Given the description of an element on the screen output the (x, y) to click on. 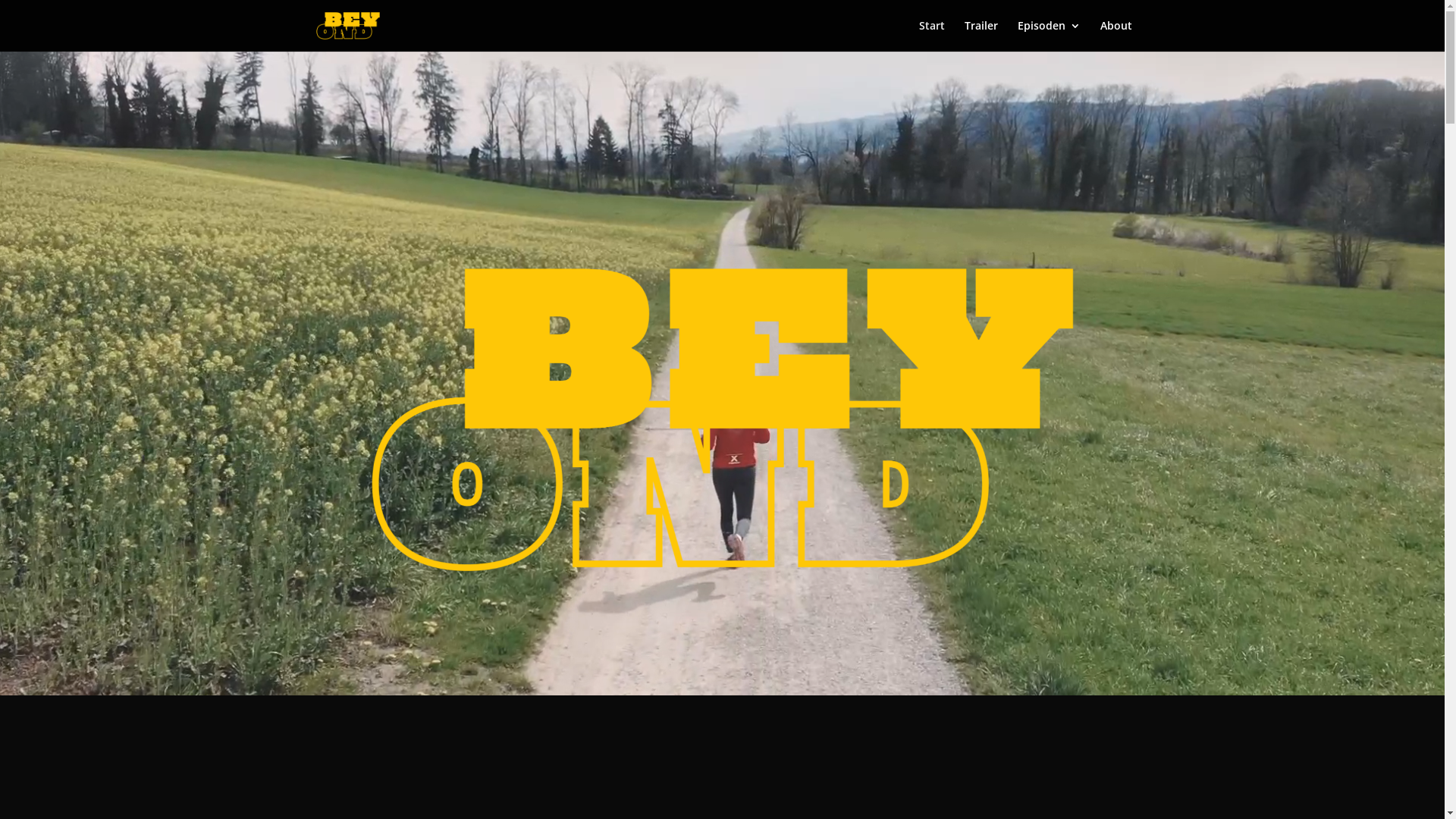
Episoden Element type: text (1048, 35)
Start Element type: text (931, 35)
About Element type: text (1115, 35)
cropped-Beyond_Logo1-1.png Element type: hover (722, 419)
Trailer Element type: text (980, 35)
